Given the description of an element on the screen output the (x, y) to click on. 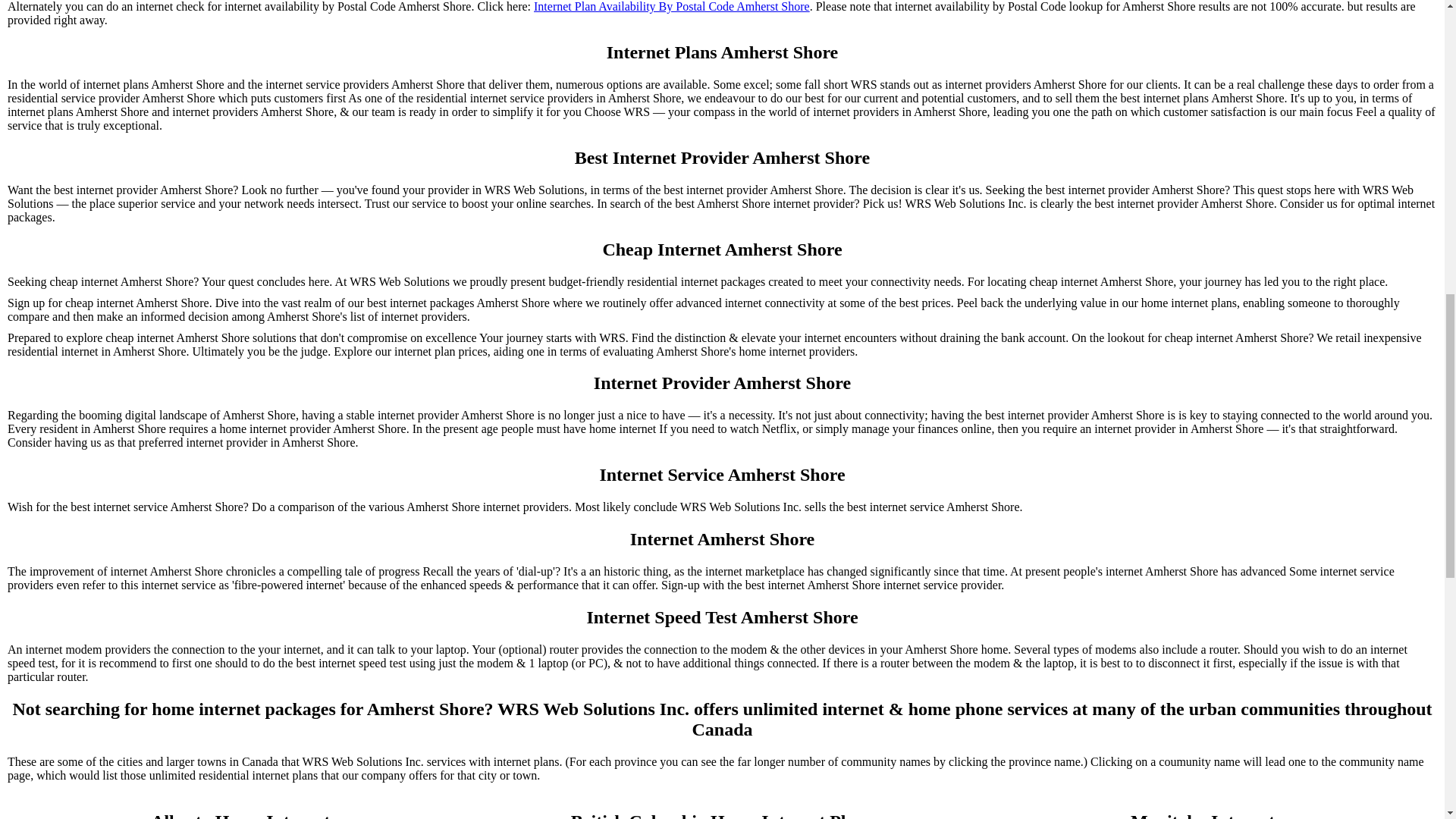
Internet Plan Availability By Postal Code Amherst Shore (671, 6)
Alberta Home Internet (240, 815)
British Columbia Home Internet Plans (721, 815)
